Given the description of an element on the screen output the (x, y) to click on. 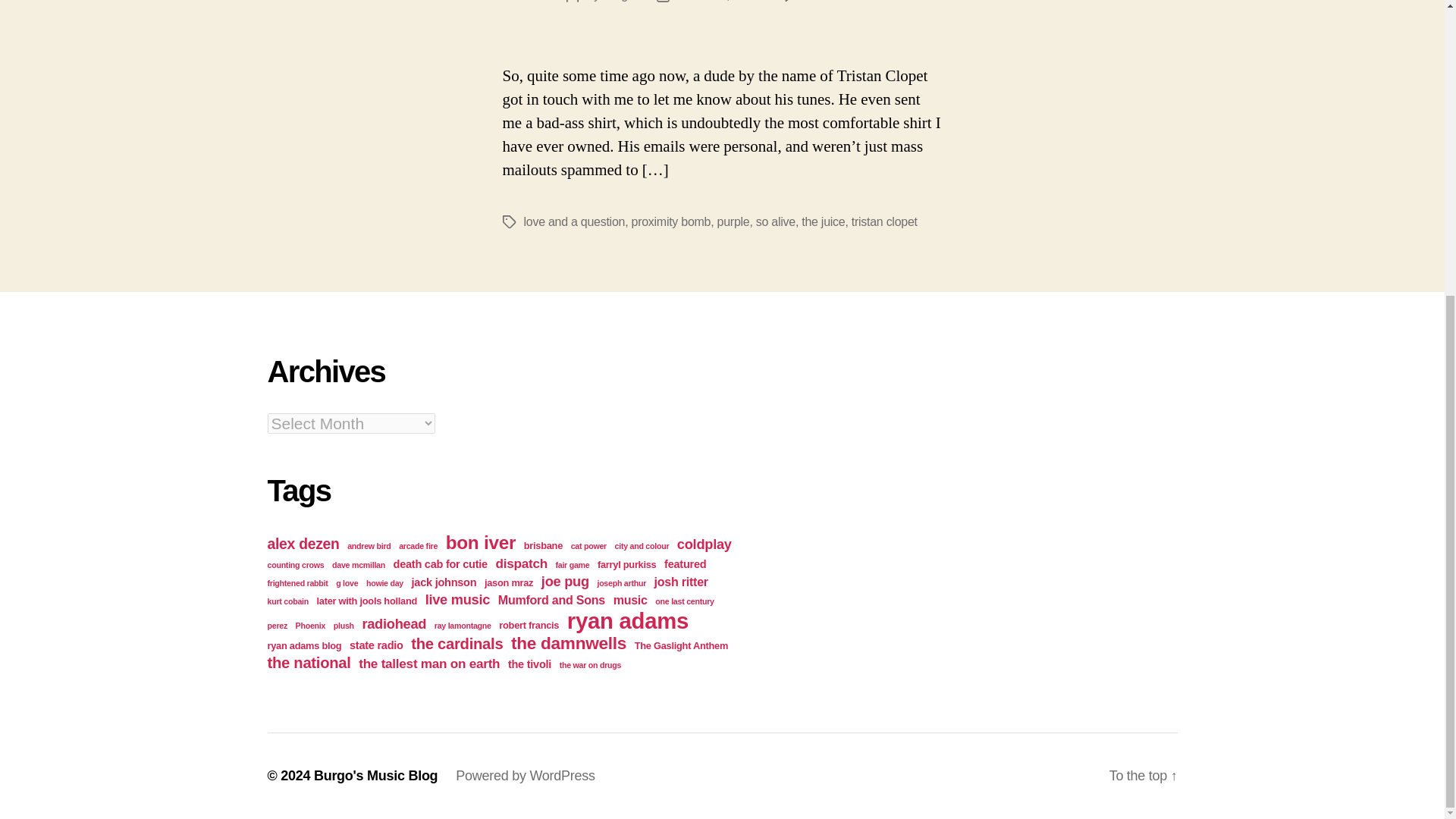
tristan clopet (884, 221)
alex dezen (302, 543)
proximity bomb (671, 221)
andrew bird (368, 545)
arcade fire (418, 545)
purple (733, 221)
brisbane (543, 545)
March 21, 2010 (717, 0)
death cab for cutie (440, 563)
Burgo (617, 0)
so alive (774, 221)
city and colour (641, 545)
cat power (588, 545)
the juice (823, 221)
counting crows (294, 564)
